Given the description of an element on the screen output the (x, y) to click on. 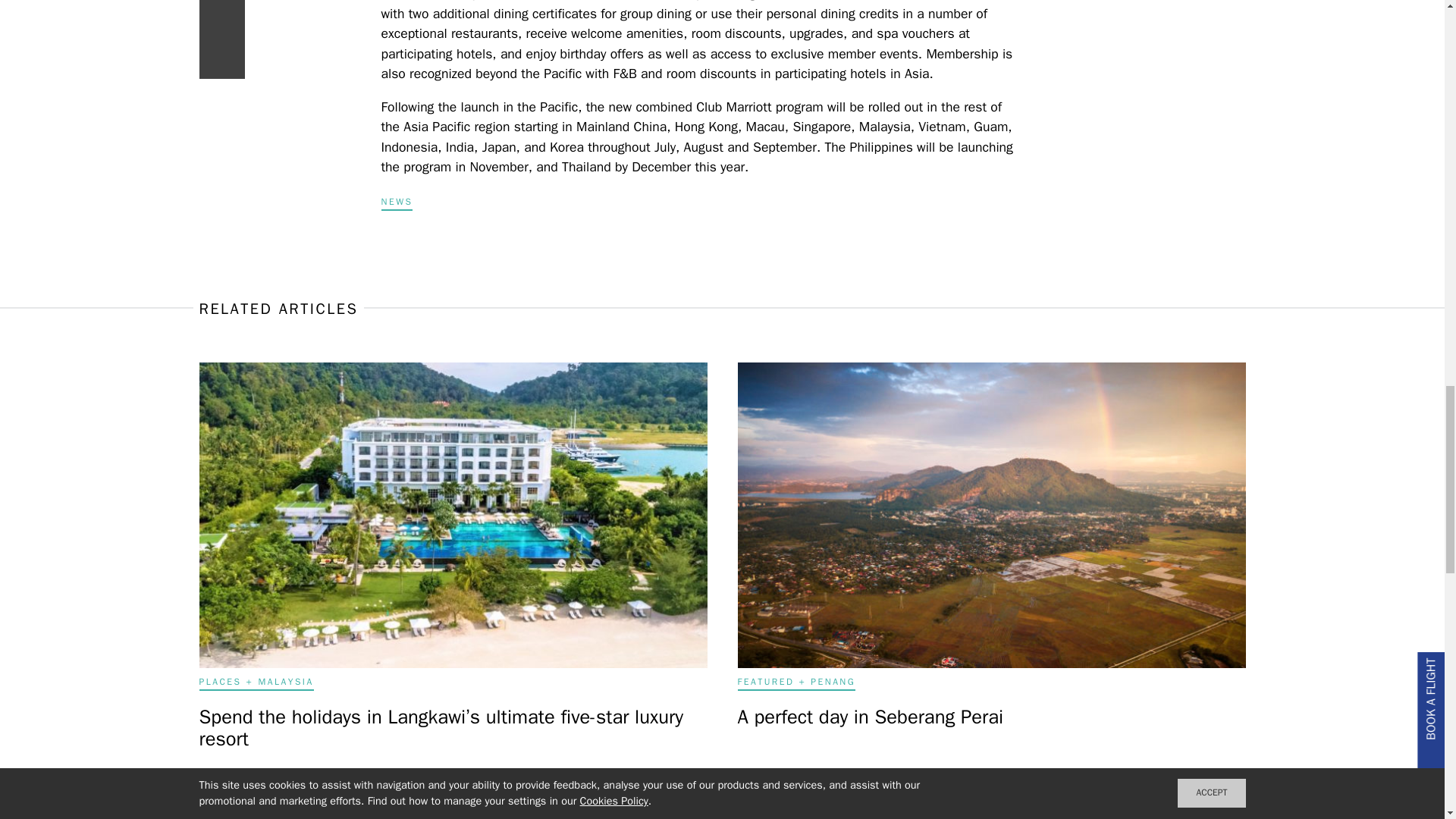
NEWS (396, 202)
MALAYSIA (285, 681)
PENANG (833, 681)
A perfect day in Seberang Perai (869, 716)
PLACES (219, 681)
Load More Related Articles (721, 792)
FEATURED (764, 681)
